Given the description of an element on the screen output the (x, y) to click on. 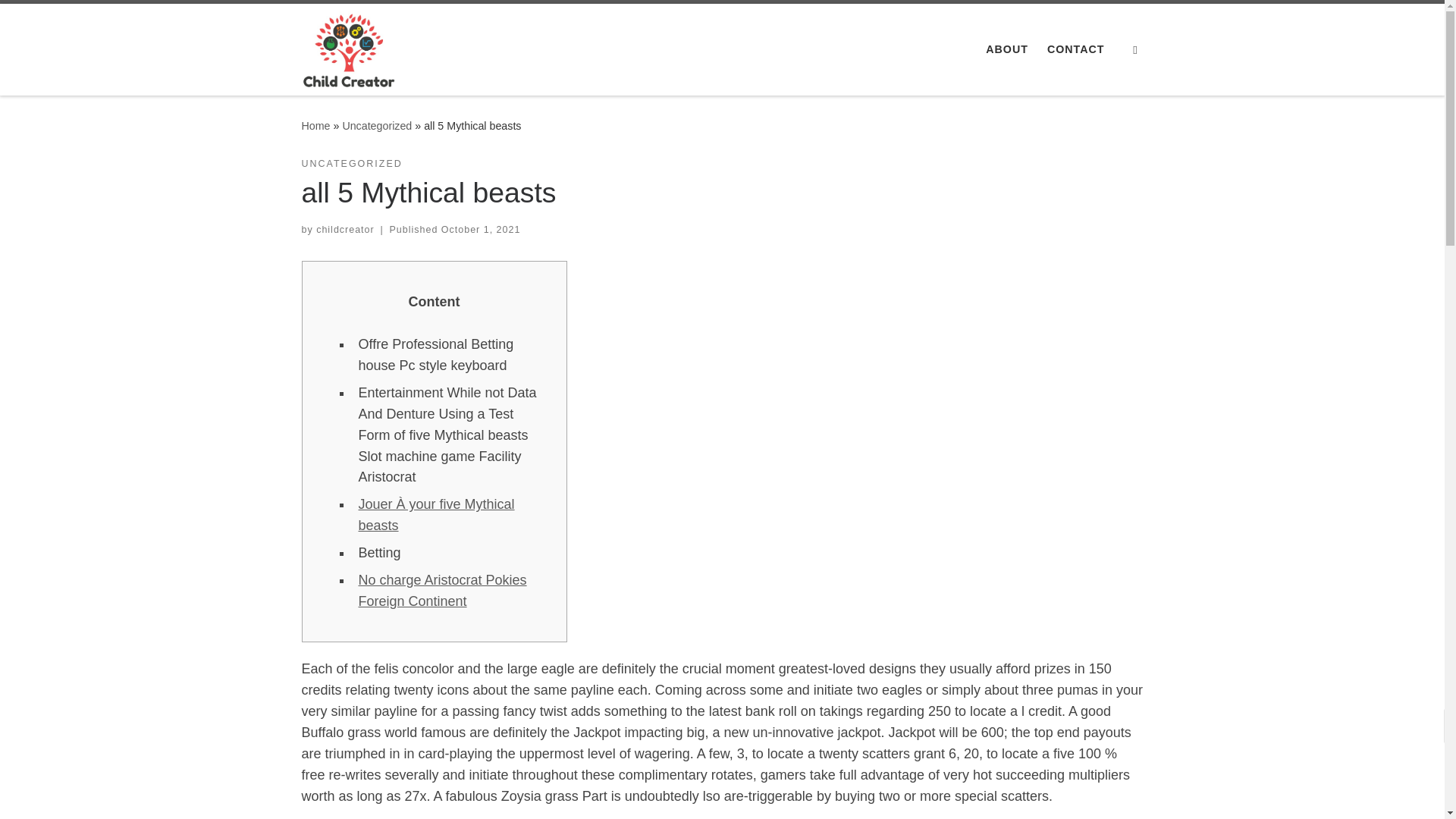
CONTACT (1075, 49)
Uncategorized (377, 125)
Uncategorized (377, 125)
ABOUT (1006, 49)
View all posts in Uncategorized (352, 164)
UNCATEGORIZED (352, 164)
No charge Aristocrat Pokies Foreign Continent (441, 590)
October 1, 2021 (481, 229)
childcreator (344, 229)
View all posts by childcreator (344, 229)
7:14 pm (481, 229)
Skip to content (60, 20)
Home (315, 125)
